Given the description of an element on the screen output the (x, y) to click on. 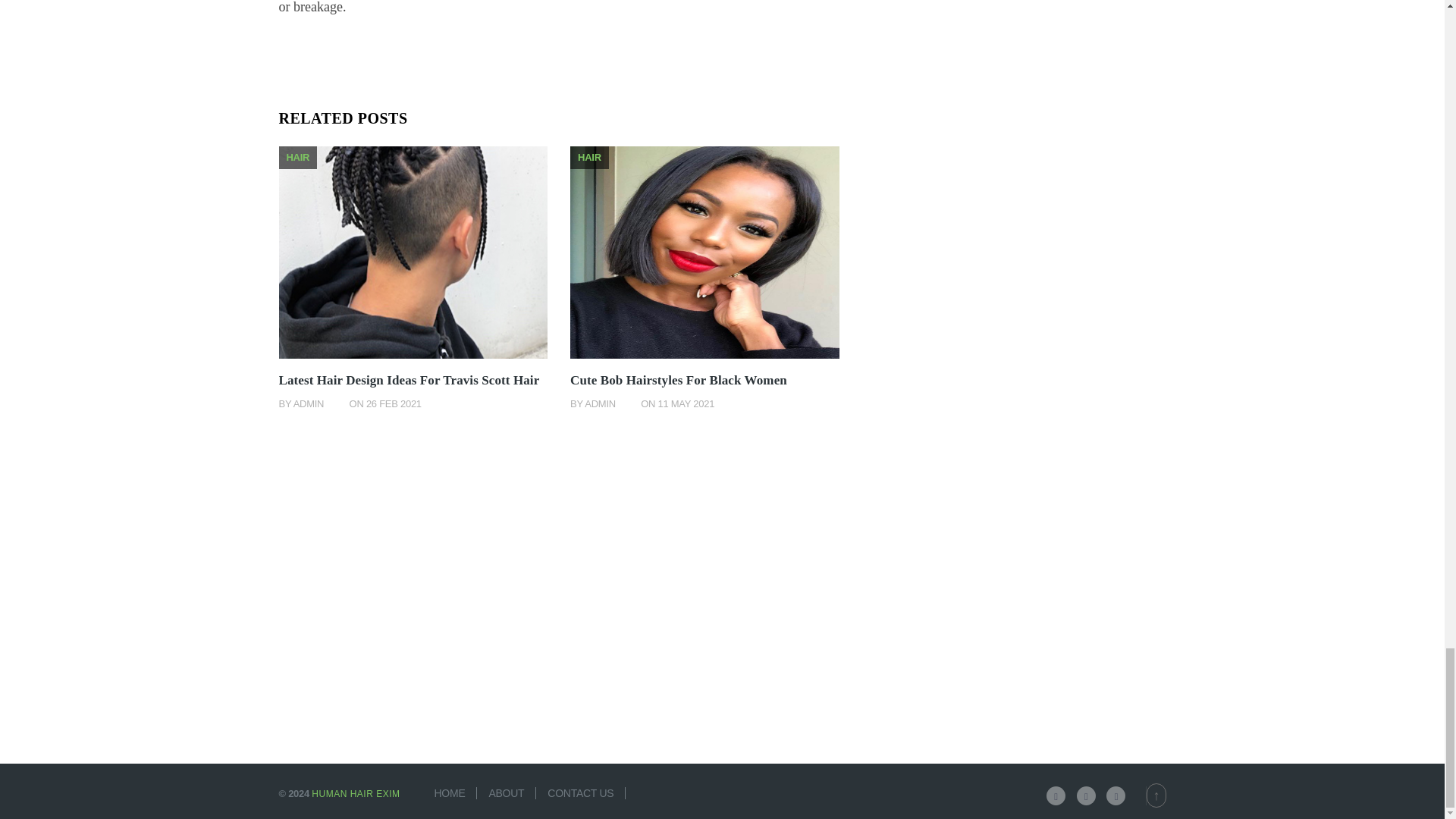
HAIR (589, 156)
Latest Hair Design Ideas For Travis Scott Hair (409, 380)
ADMIN (309, 403)
ADMIN (600, 403)
Cute Bob Hairstyles For Black Women (678, 380)
HAIR (298, 156)
